Given the description of an element on the screen output the (x, y) to click on. 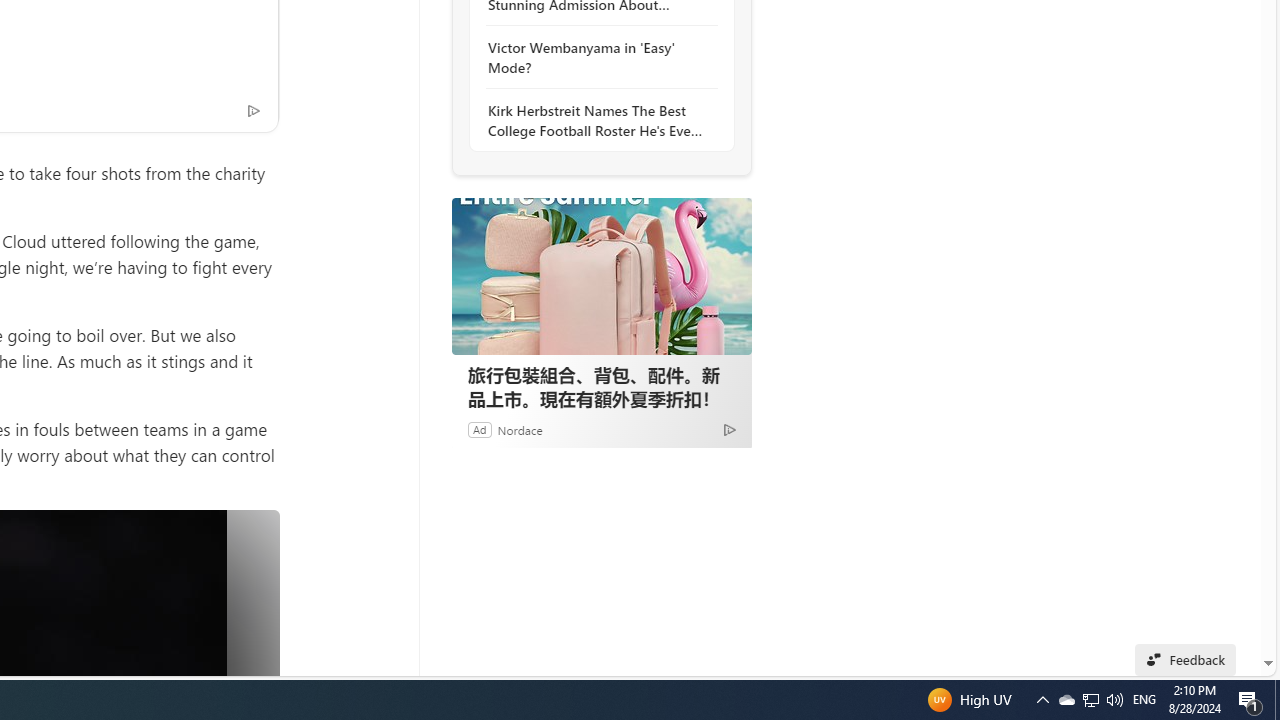
Nordace (519, 429)
Victor Wembanyama in 'Easy' Mode? (596, 57)
Feedback (1185, 659)
Ad Choice (729, 429)
Ad (479, 429)
